Given the description of an element on the screen output the (x, y) to click on. 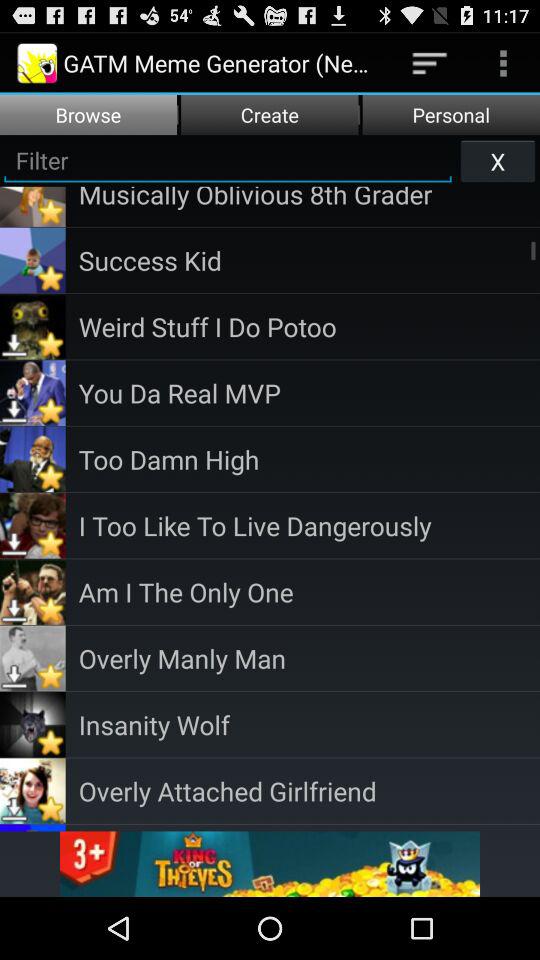
select overly manly man (309, 657)
